Given the description of an element on the screen output the (x, y) to click on. 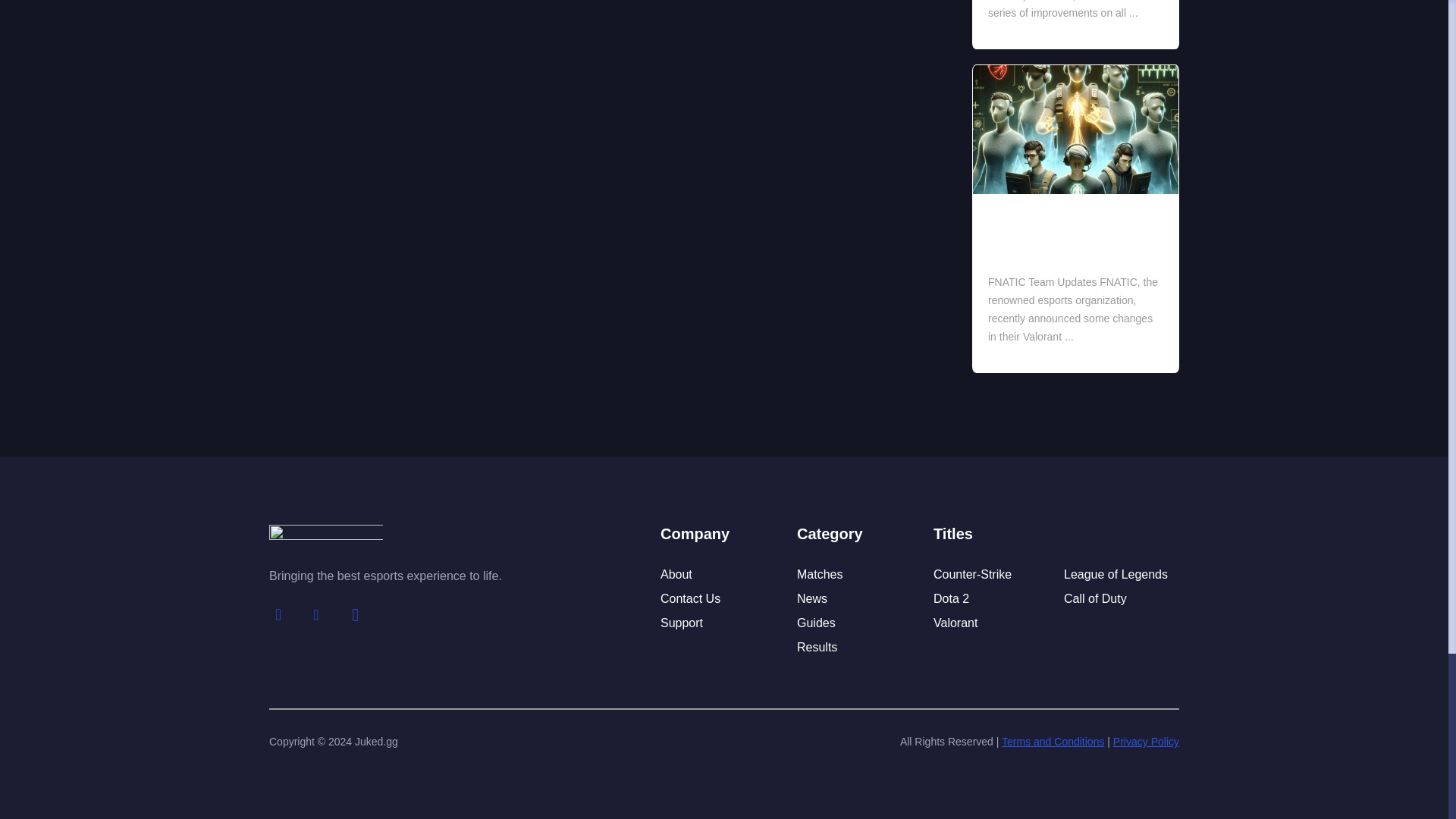
Follow on Instagram (355, 615)
Follow on X (316, 614)
Follow on Facebook (278, 614)
Logo - Transparent (325, 545)
